Given the description of an element on the screen output the (x, y) to click on. 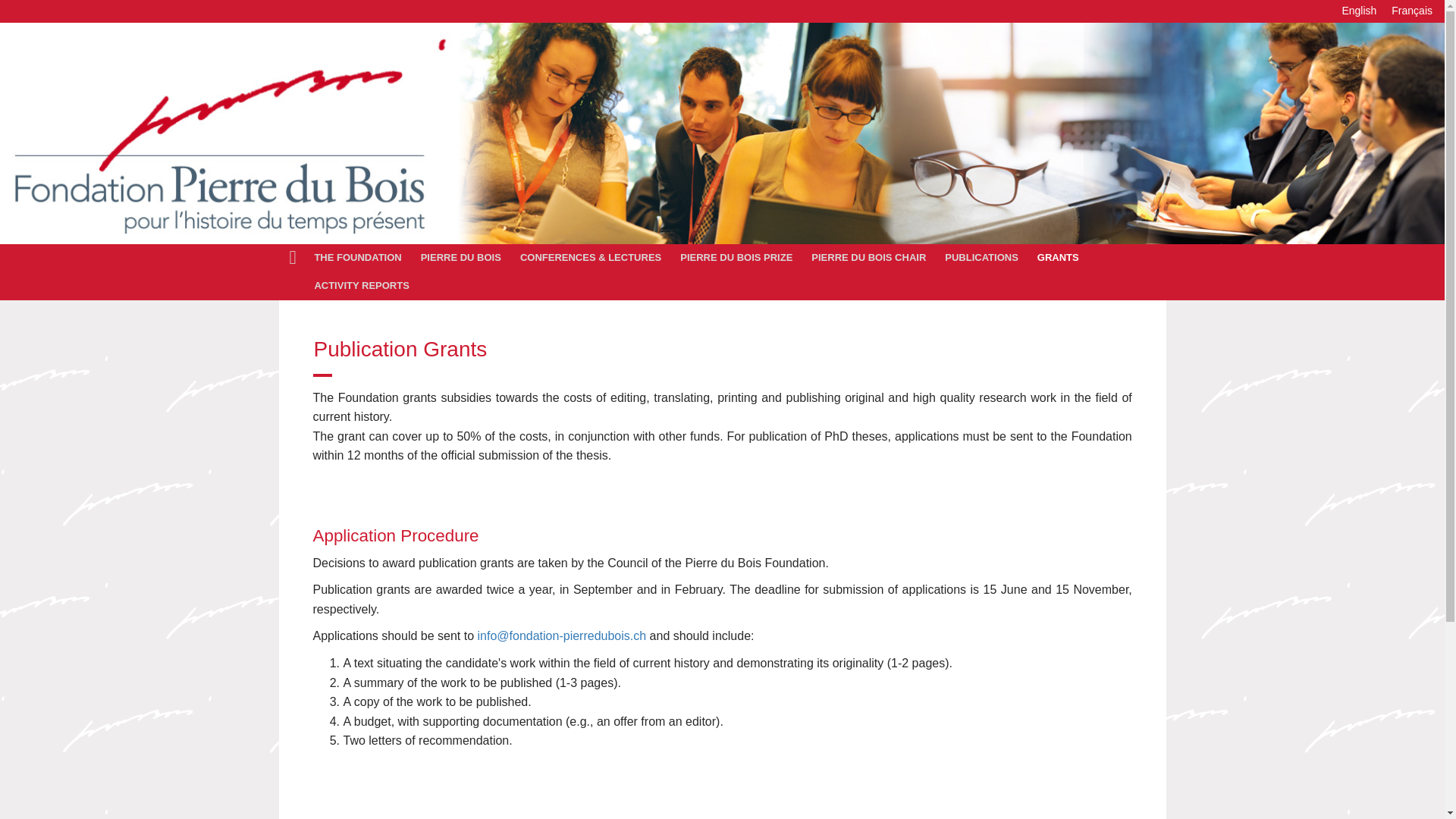
PIERRE DU BOIS (462, 257)
English (1358, 10)
Pierre du Bois (462, 257)
